Given the description of an element on the screen output the (x, y) to click on. 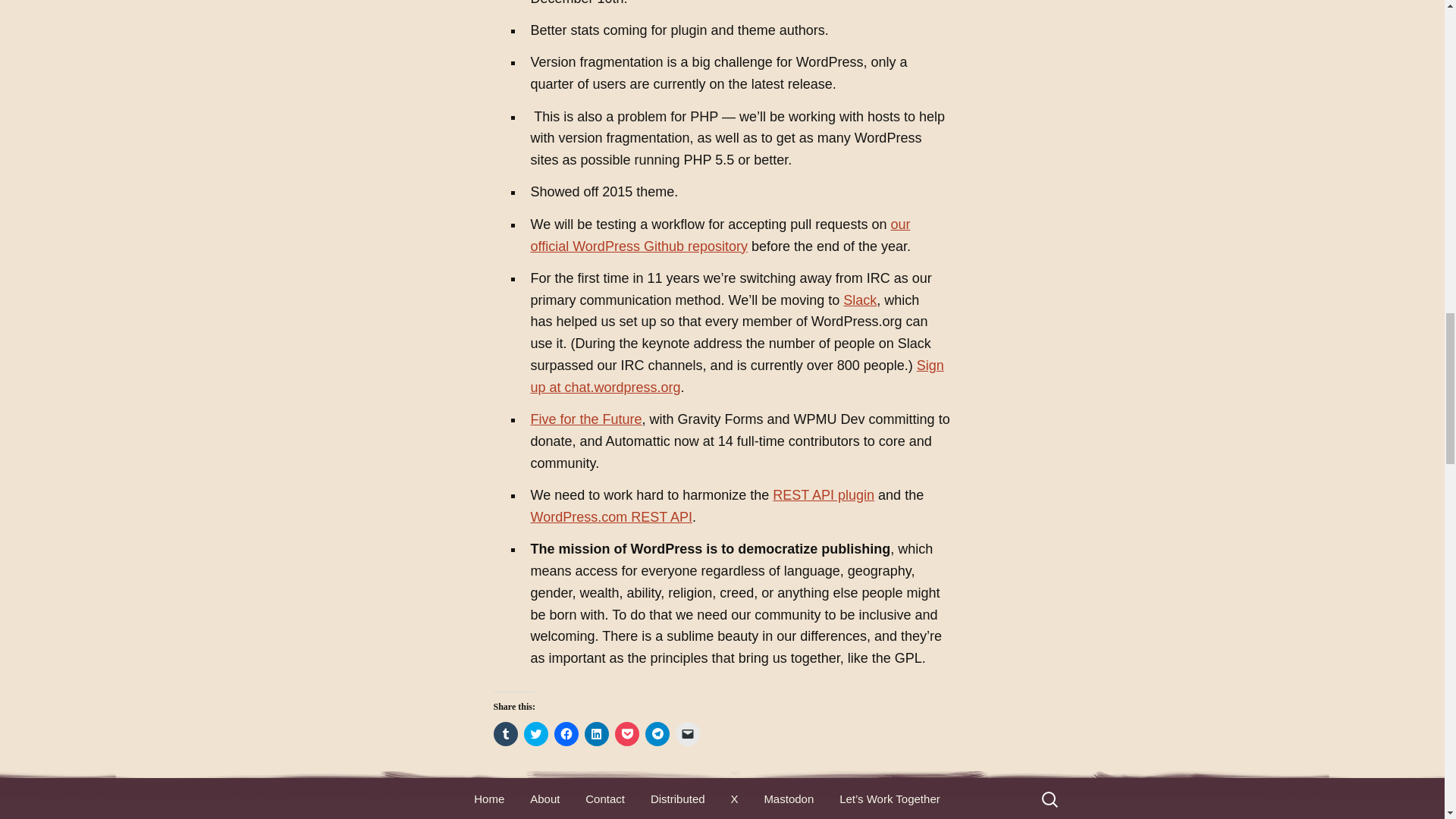
Five for the Future (586, 418)
Click to email a link to a friend (686, 733)
REST API plugin (824, 494)
Click to share on Twitter (534, 733)
Click to share on Tumblr (504, 733)
Click to share on Facebook (565, 733)
our official WordPress Github repository (721, 235)
Click to share on Telegram (656, 733)
Click to share on Pocket (626, 733)
Click to share on LinkedIn (595, 733)
Sign up at chat.wordpress.org (737, 375)
WordPress.com REST API (612, 516)
Slack (859, 299)
